Given the description of an element on the screen output the (x, y) to click on. 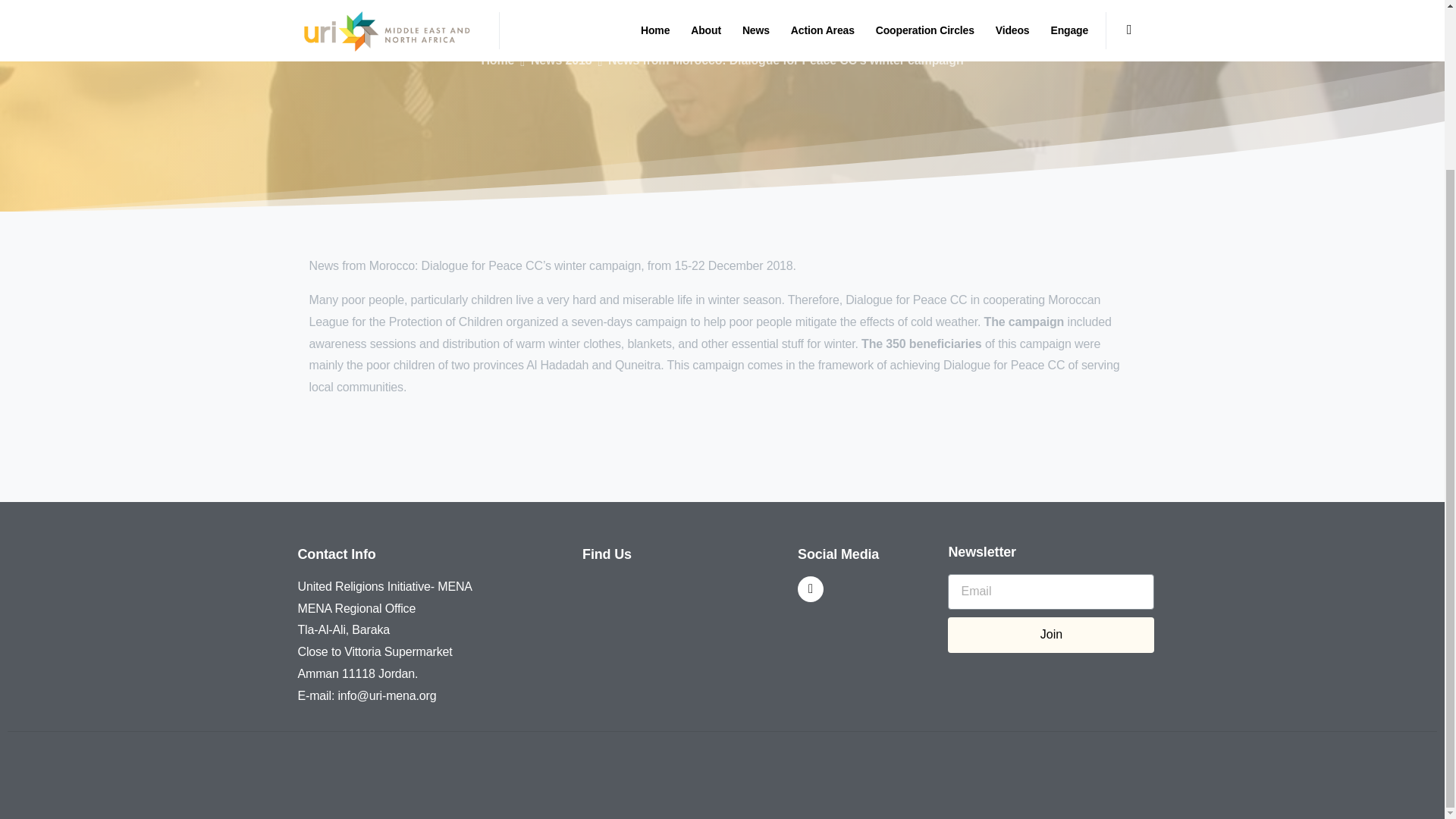
Home (496, 60)
News 2018 (561, 60)
Join (1050, 634)
